Given the description of an element on the screen output the (x, y) to click on. 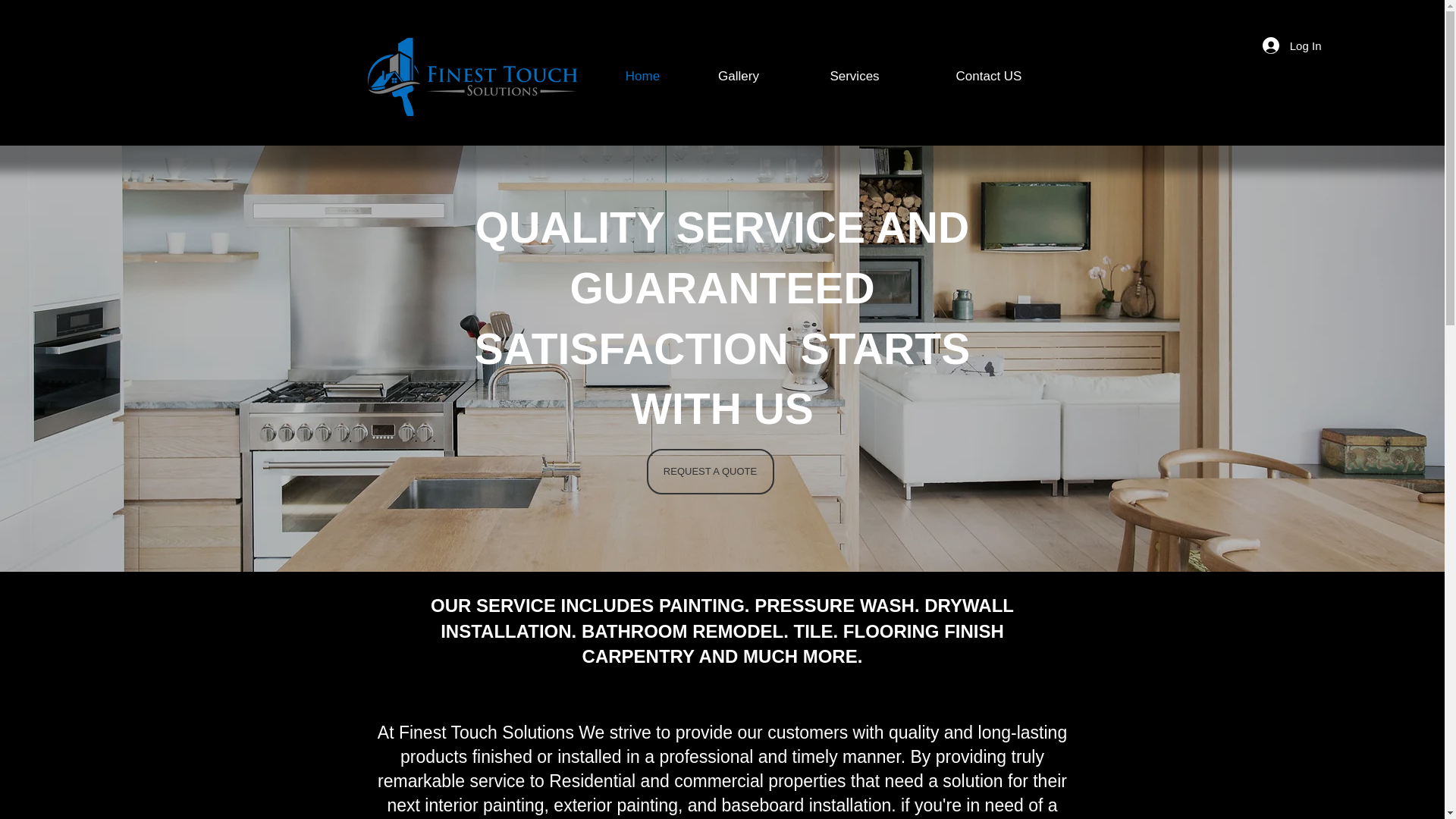
Home (642, 76)
REQUEST A QUOTE (709, 471)
Gallery (738, 76)
finest touch painting trans.png (471, 76)
Contact US (988, 76)
Log In (1292, 45)
